Given the description of an element on the screen output the (x, y) to click on. 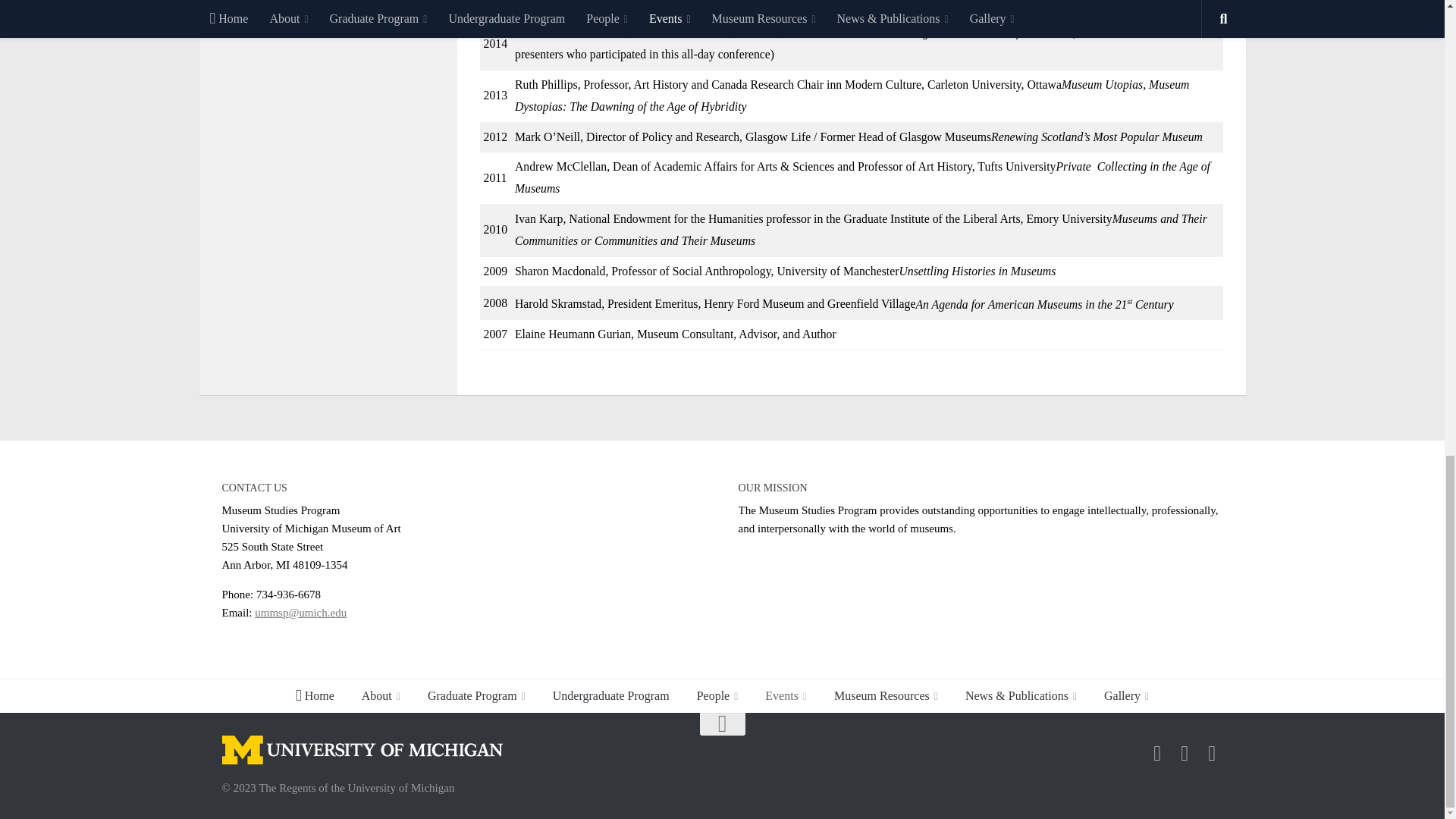
YouTube (1212, 753)
Twitter (1184, 753)
Facebook (1157, 753)
